Given the description of an element on the screen output the (x, y) to click on. 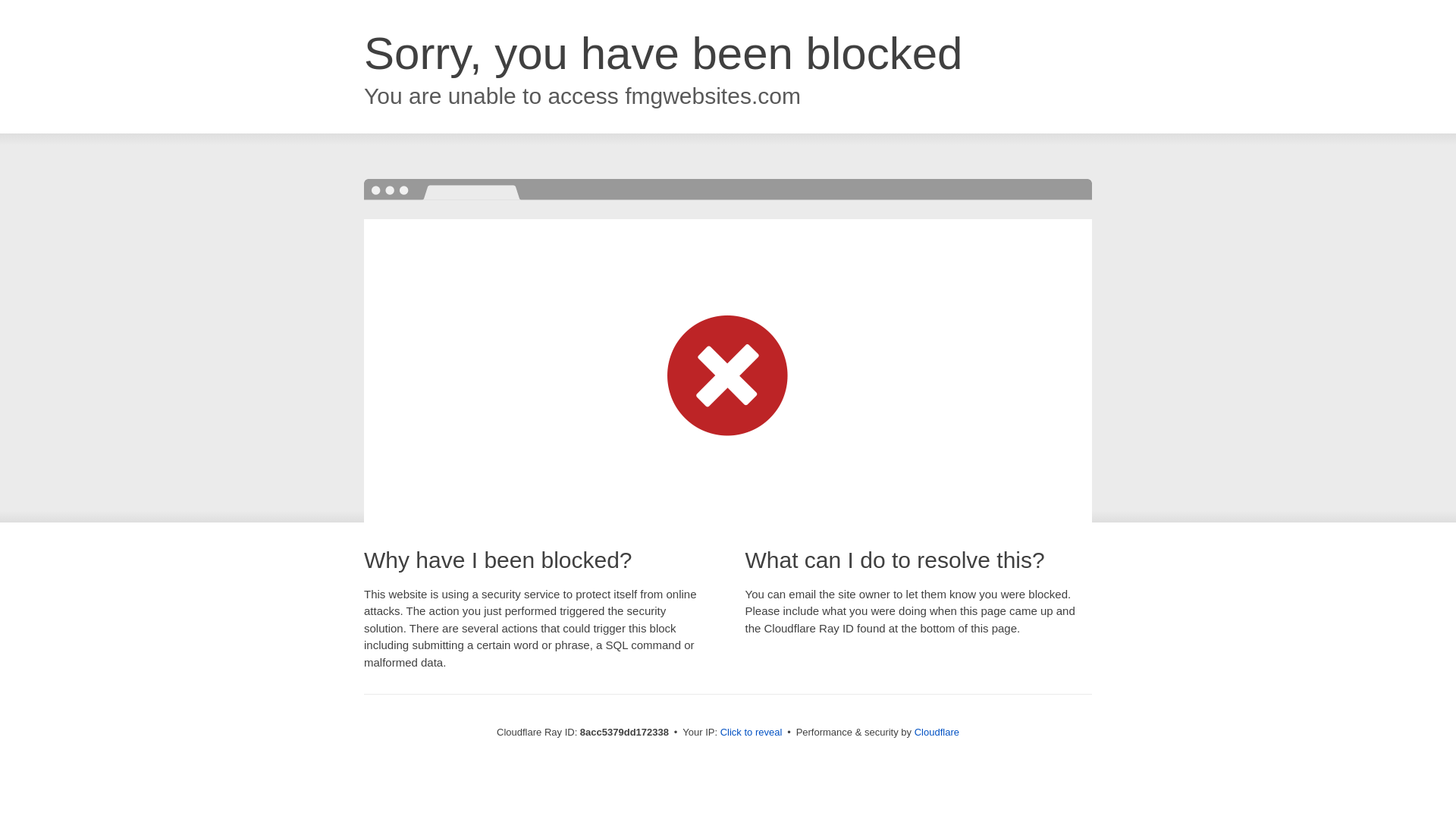
Click to reveal (751, 732)
Cloudflare (936, 731)
